Given the description of an element on the screen output the (x, y) to click on. 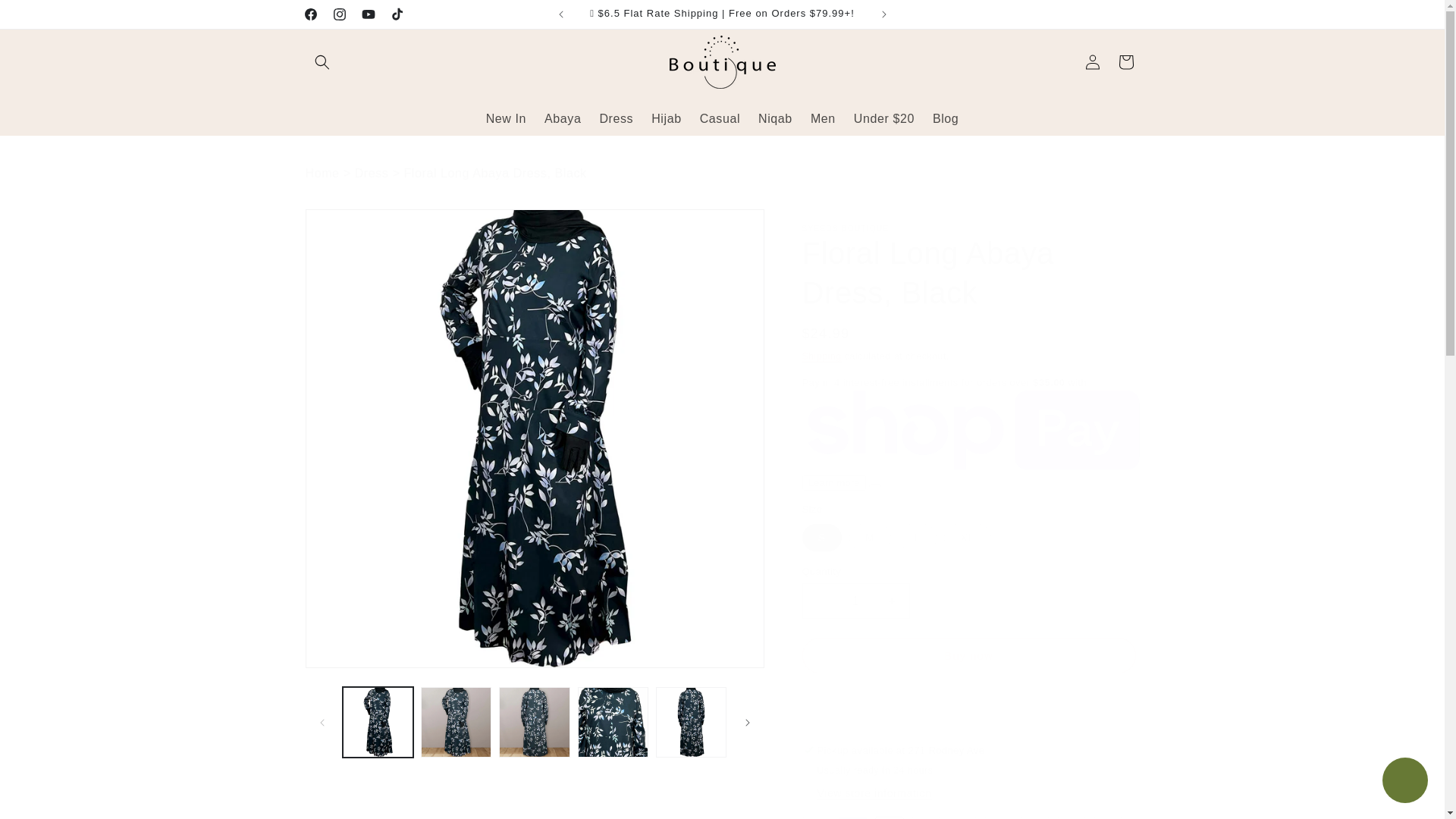
Log in (1091, 61)
Skip to content (45, 17)
Niqab (775, 118)
Men (823, 118)
TikTok (395, 14)
Shopify online store chat (1404, 781)
1 (856, 601)
